Given the description of an element on the screen output the (x, y) to click on. 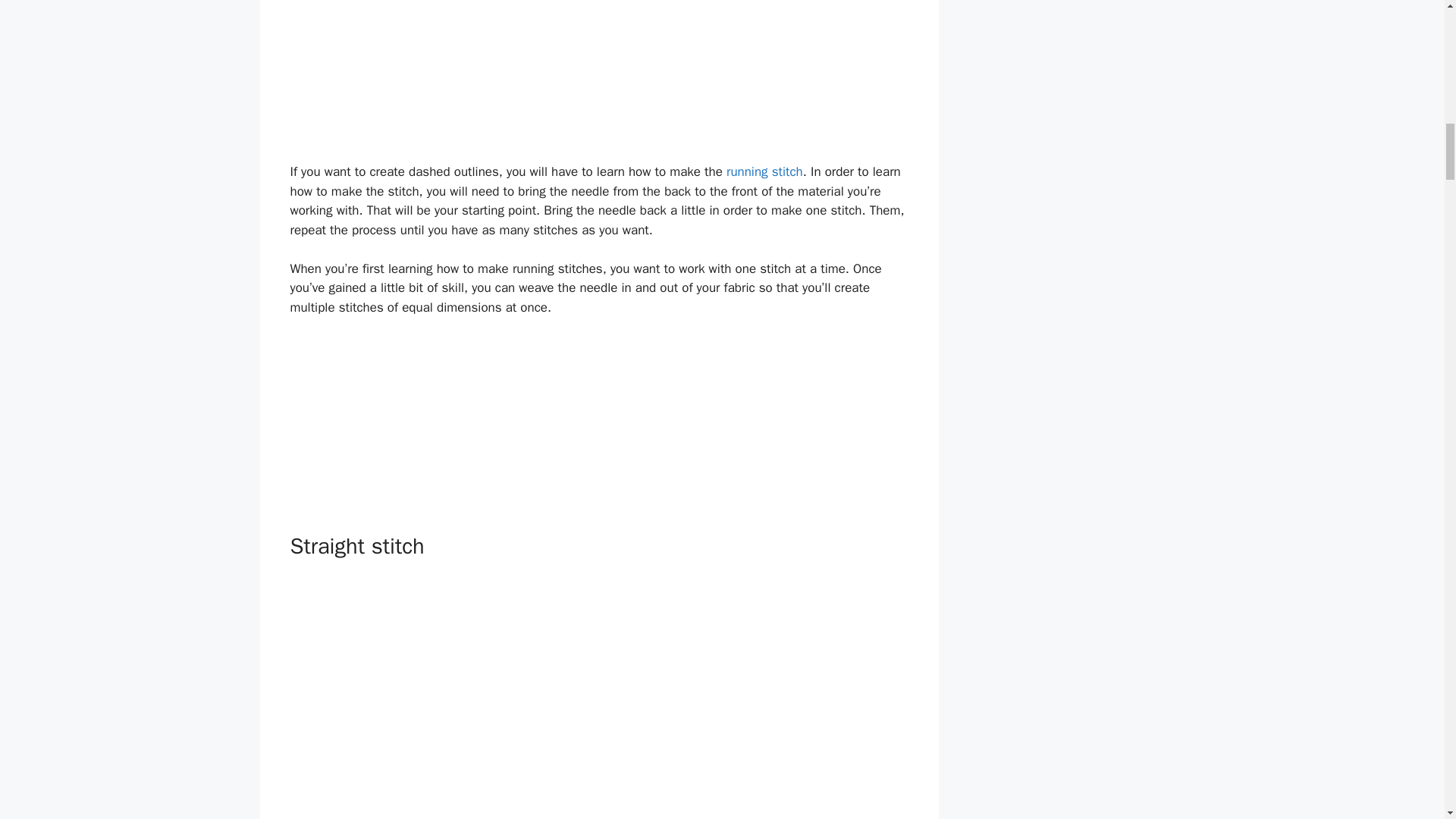
running stitch (764, 171)
